Given the description of an element on the screen output the (x, y) to click on. 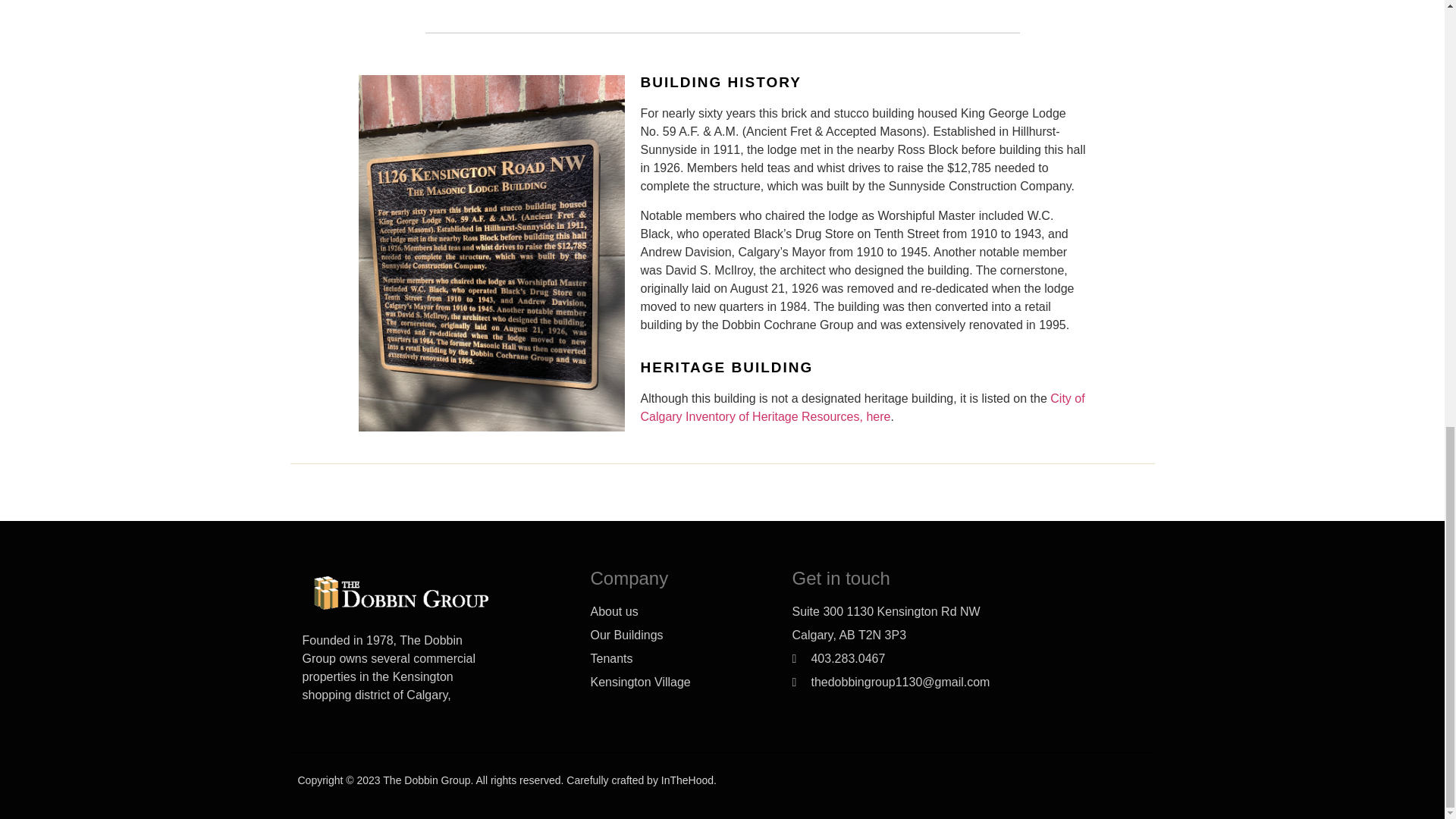
Our Buildings (678, 635)
About us (678, 611)
City of Calgary Inventory of Heritage Resources, here (864, 407)
Tenants (678, 659)
